Given the description of an element on the screen output the (x, y) to click on. 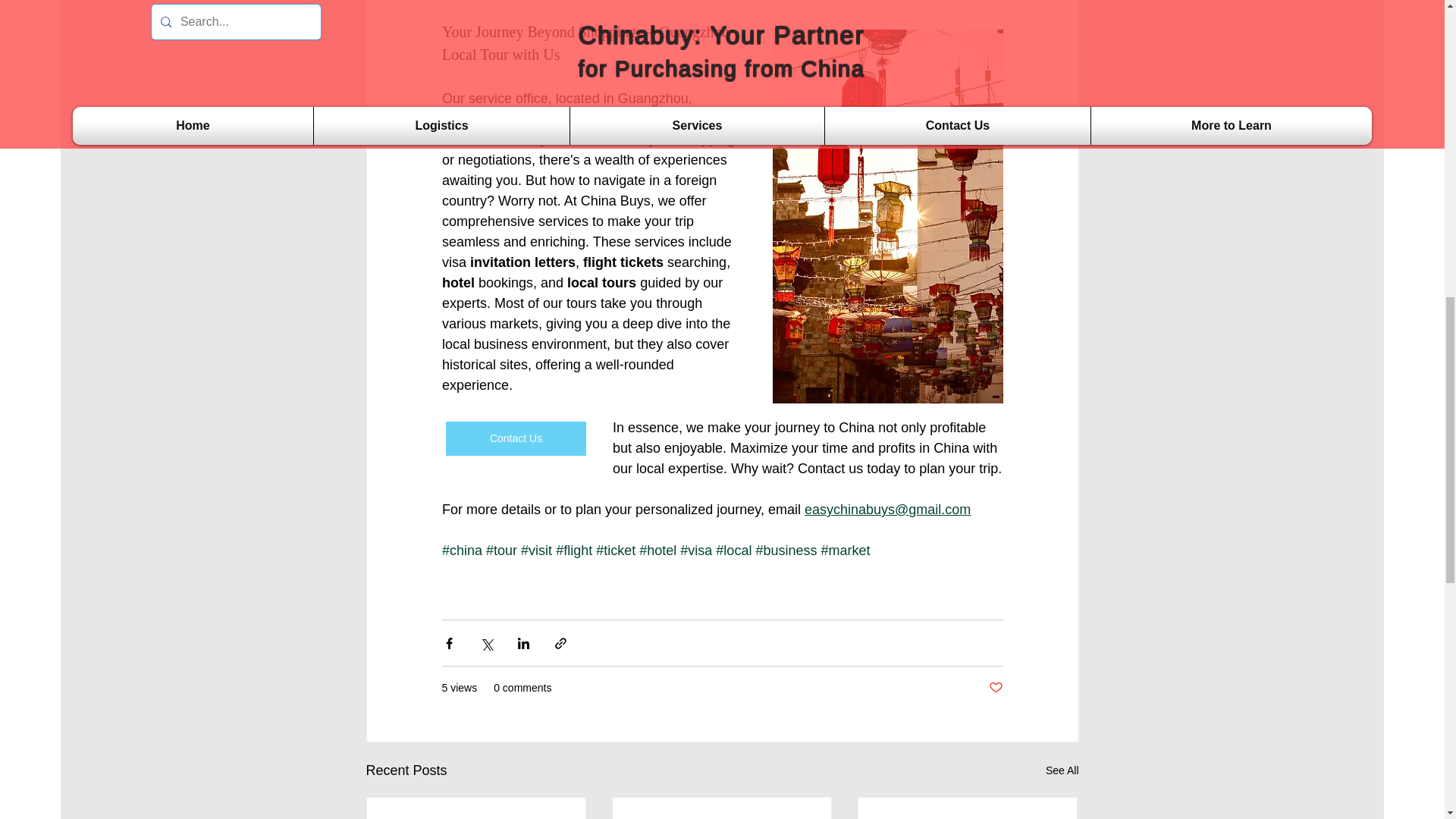
See All (1061, 771)
Post not marked as liked (995, 688)
Contact Us (515, 438)
